Given the description of an element on the screen output the (x, y) to click on. 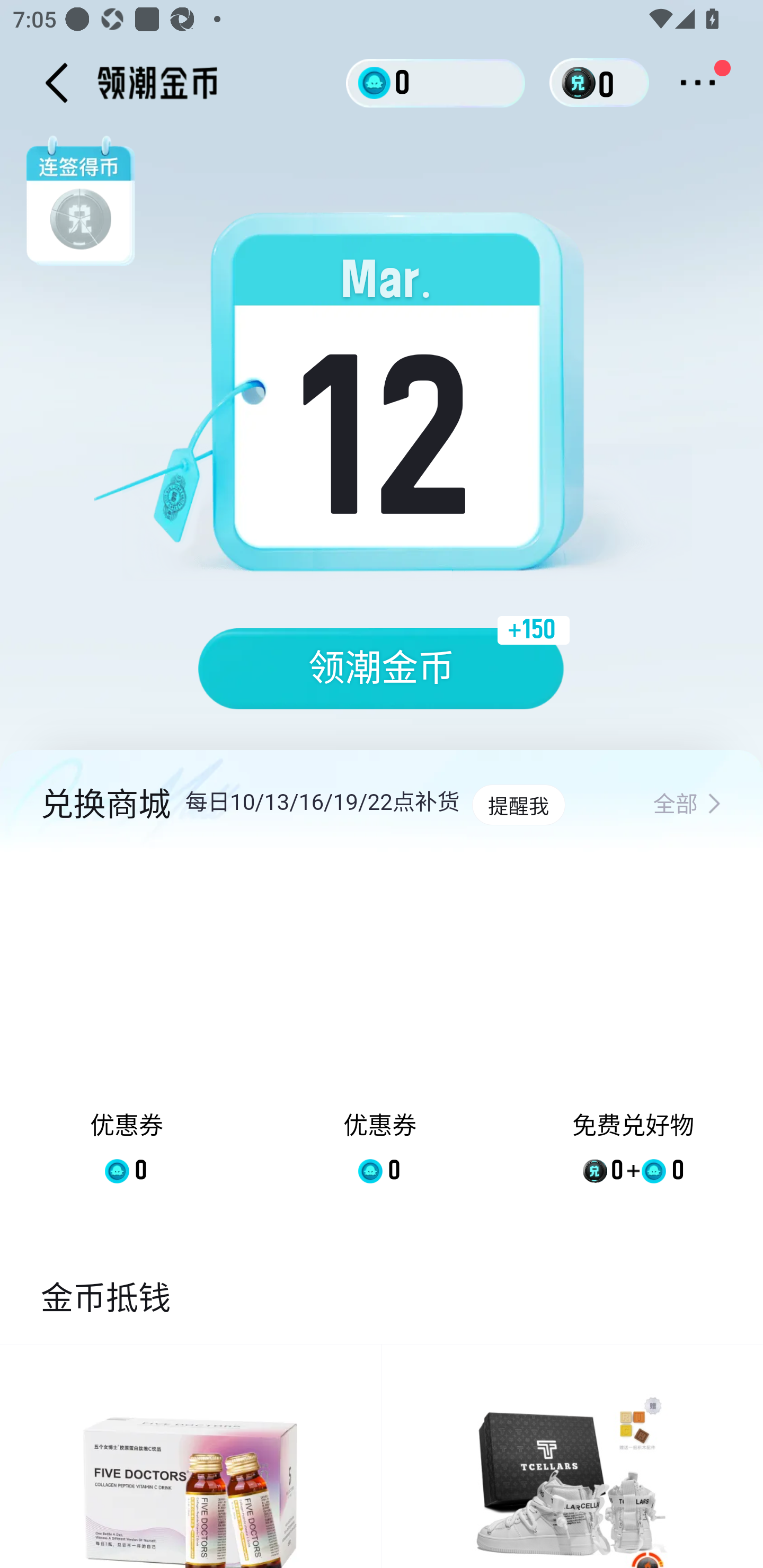
0 (435, 82)
format,webp 0 (581, 83)
领潮金币 + 150 (381, 668)
提醒我 (518, 805)
全部 (687, 804)
优惠券 0 (127, 1031)
优惠券 0 (379, 1031)
免费兑好物 0 0 (633, 1031)
